Given the description of an element on the screen output the (x, y) to click on. 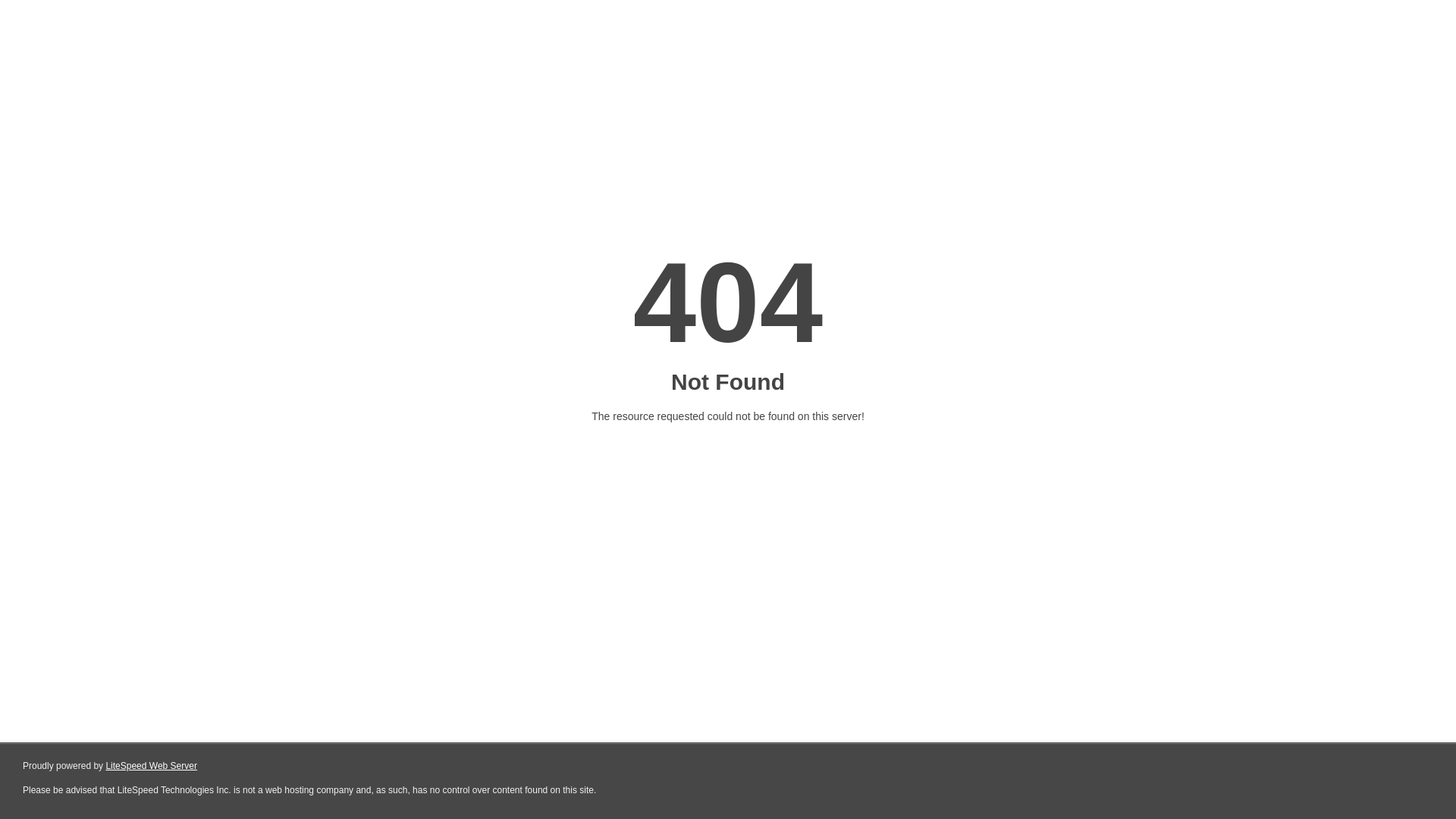
LiteSpeed Web Server Element type: text (151, 765)
